Given the description of an element on the screen output the (x, y) to click on. 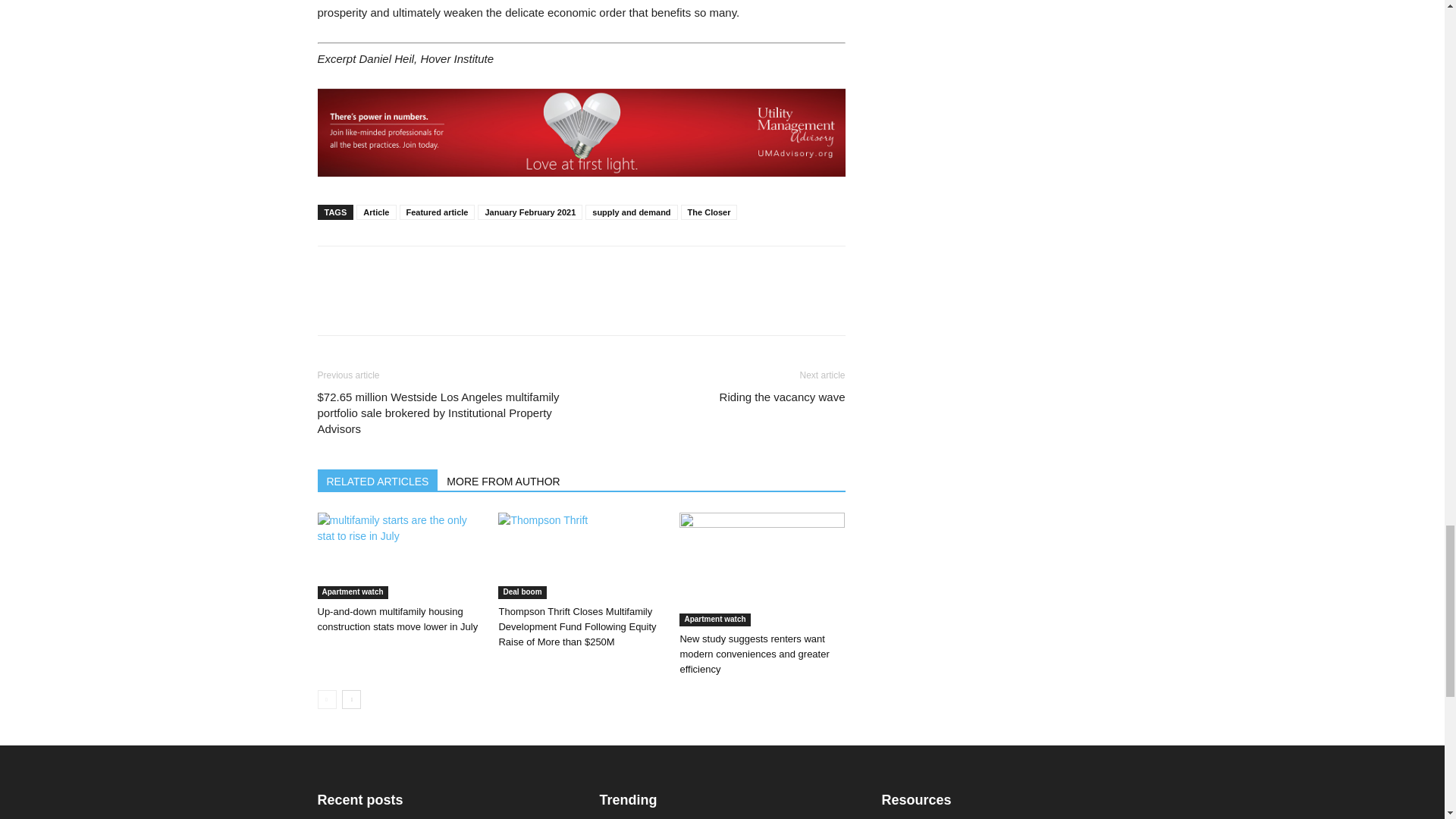
UMAdvisory (580, 132)
Article (376, 212)
supply and demand (631, 212)
Featured article (436, 212)
January February 2021 (529, 212)
The Closer (709, 212)
